Given the description of an element on the screen output the (x, y) to click on. 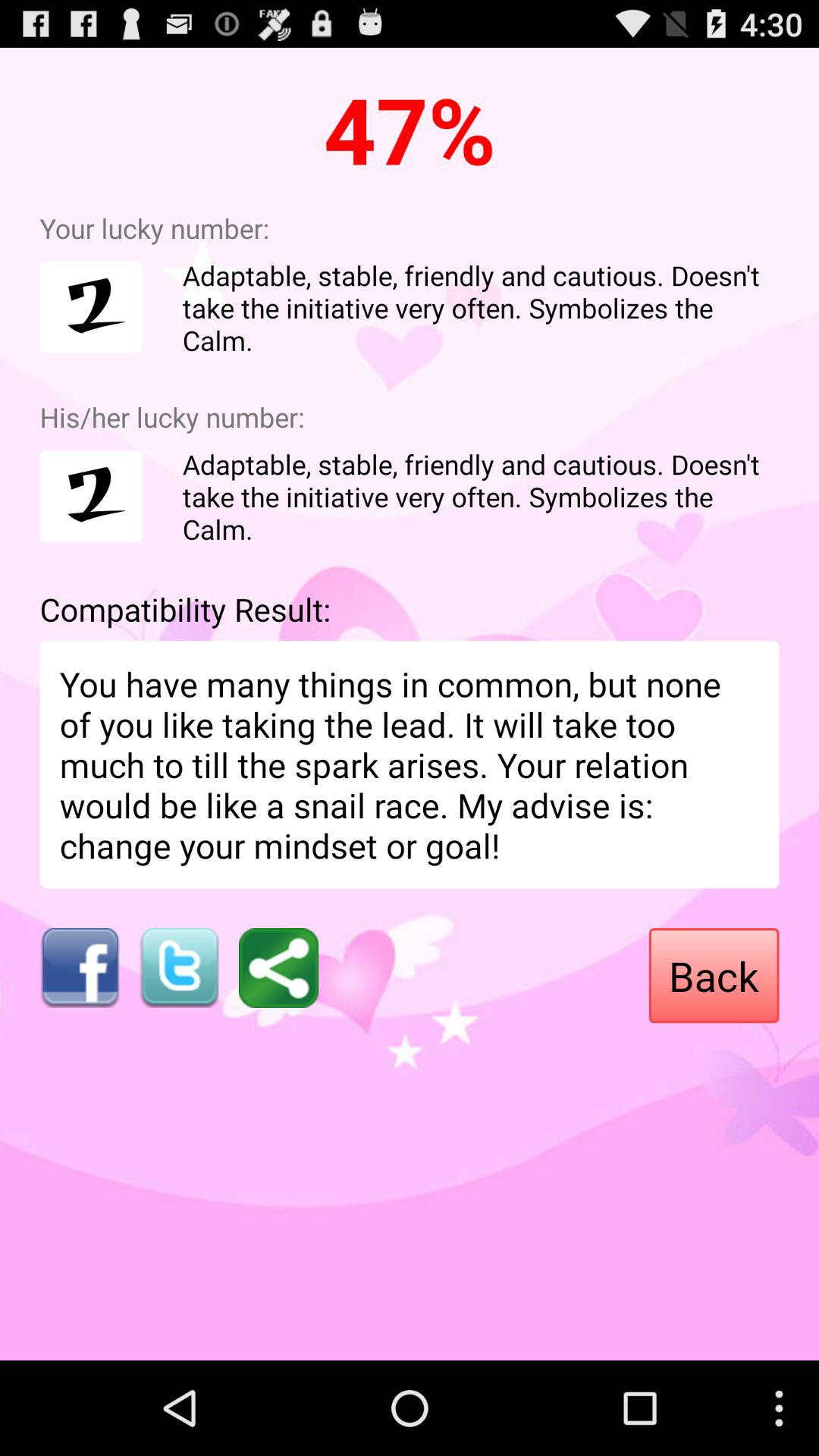
turn off the icon below you have many (713, 975)
